Given the description of an element on the screen output the (x, y) to click on. 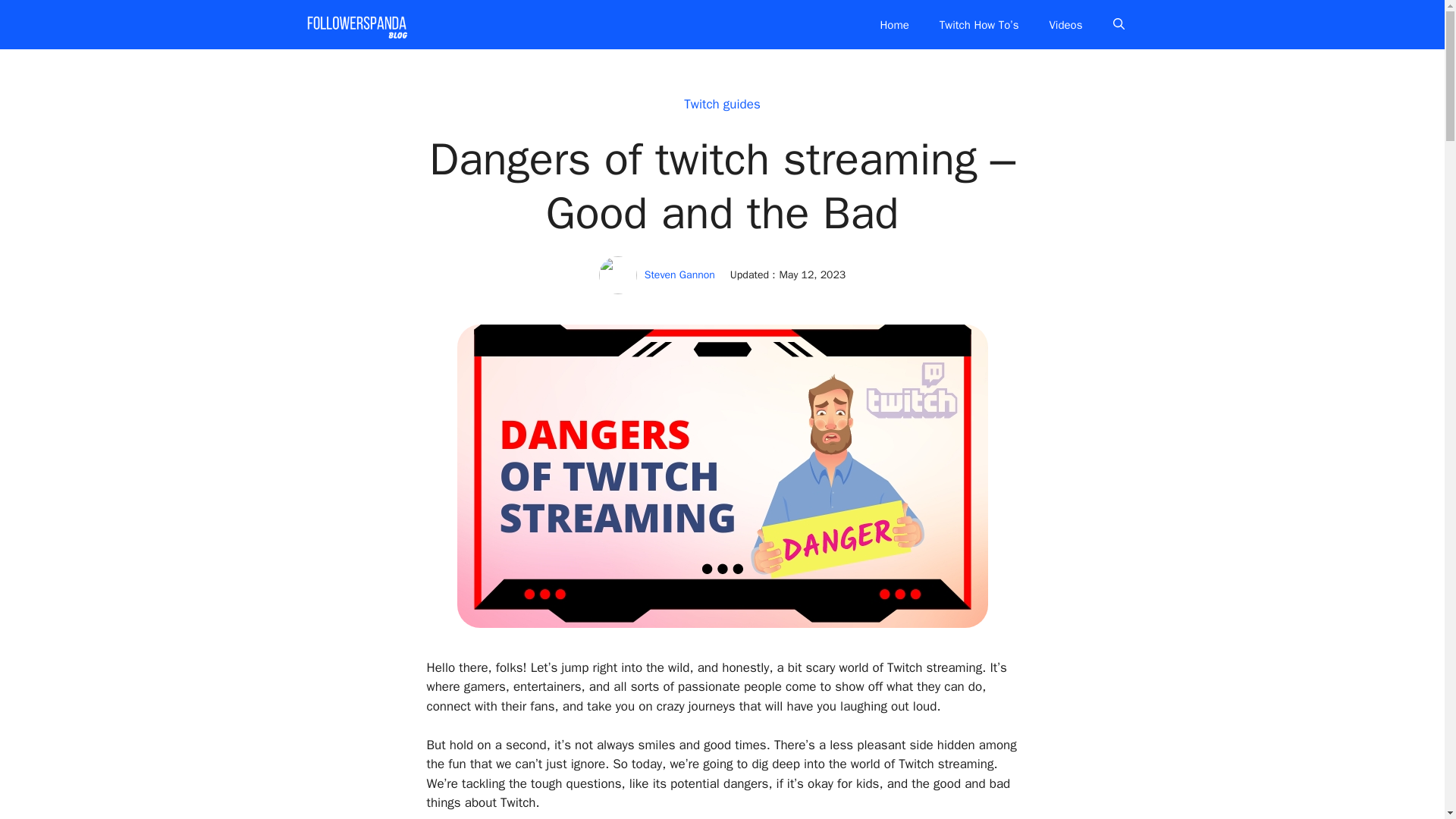
Videos (1065, 23)
Steven Gannon (679, 274)
Home (893, 23)
Twitch guides (722, 104)
Twitch marketing Guides (355, 24)
